Given the description of an element on the screen output the (x, y) to click on. 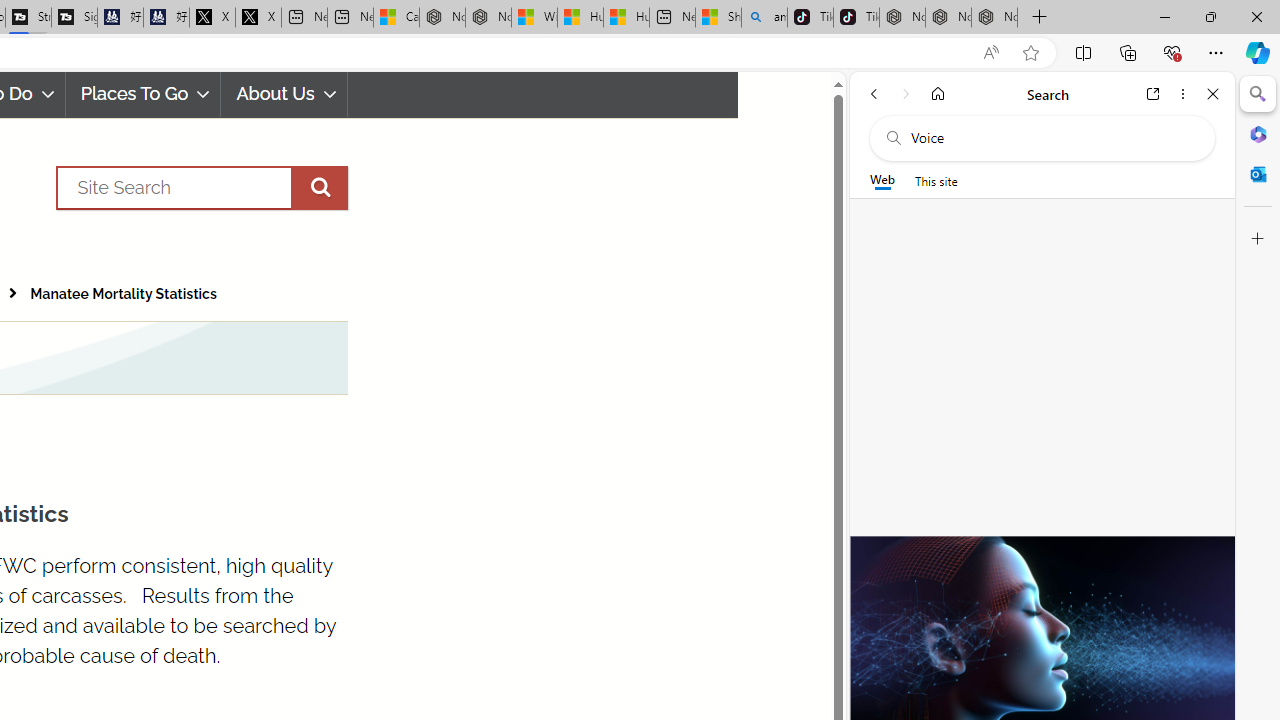
Open link in new tab (1153, 93)
Search (201, 187)
Nordace - Best Sellers (902, 17)
Settings and more (Alt+F) (1215, 52)
Customize (1258, 239)
Home (938, 93)
Nordace Siena Pro 15 Backpack (948, 17)
New Tab (1039, 17)
More options (1182, 93)
amazon - Search (764, 17)
Forward (906, 93)
Search (1258, 94)
Close (1213, 93)
